Given the description of an element on the screen output the (x, y) to click on. 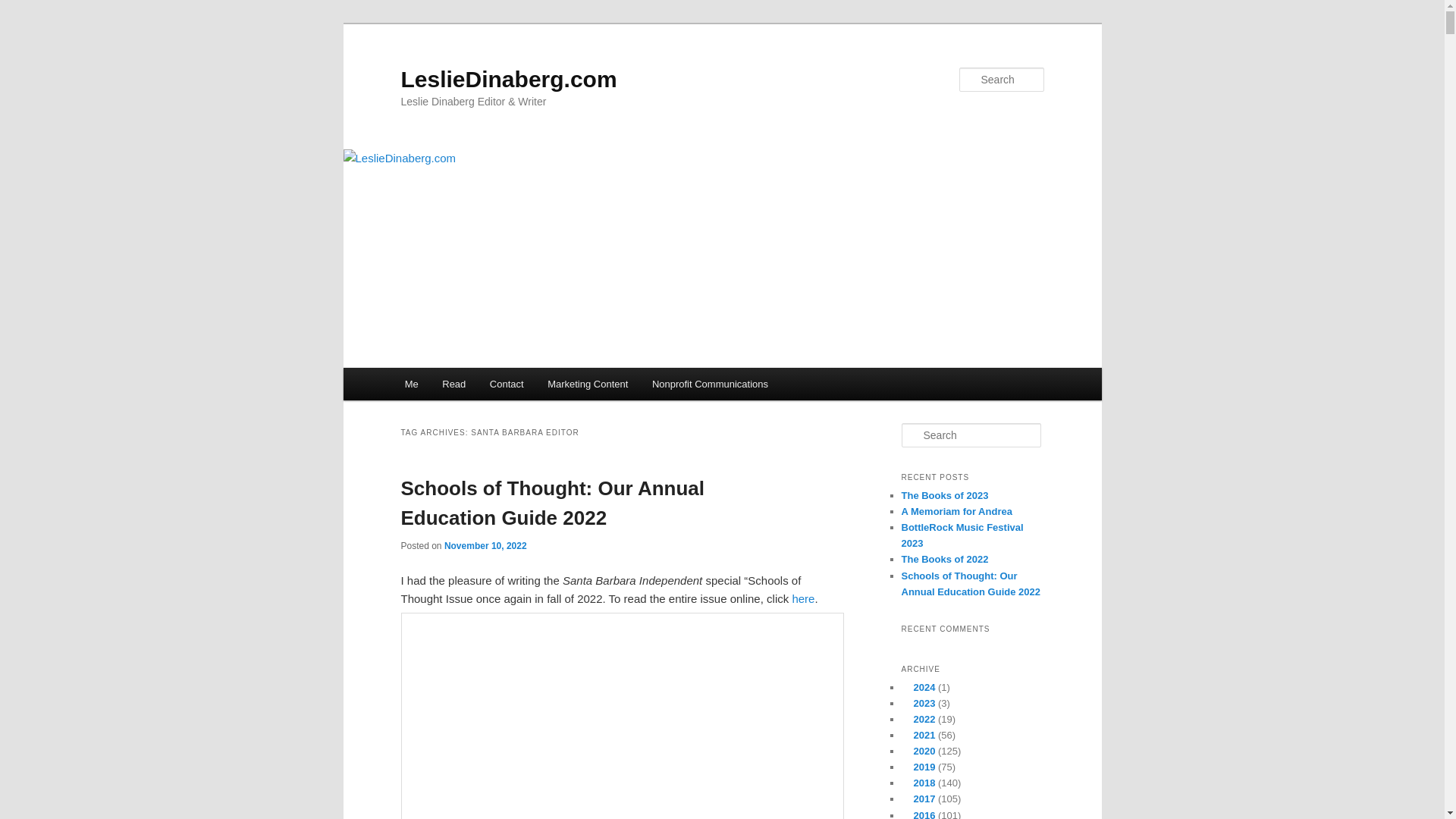
Read (454, 383)
Nonprofit Communications (710, 383)
Contact (506, 383)
here (802, 598)
5:10 pm (485, 545)
November 10, 2022 (485, 545)
LeslieDinaberg.com (507, 78)
Search (24, 8)
Schools of Thought: Our Annual Education Guide 2022 (552, 502)
Me (411, 383)
Marketing Content (587, 383)
